Given the description of an element on the screen output the (x, y) to click on. 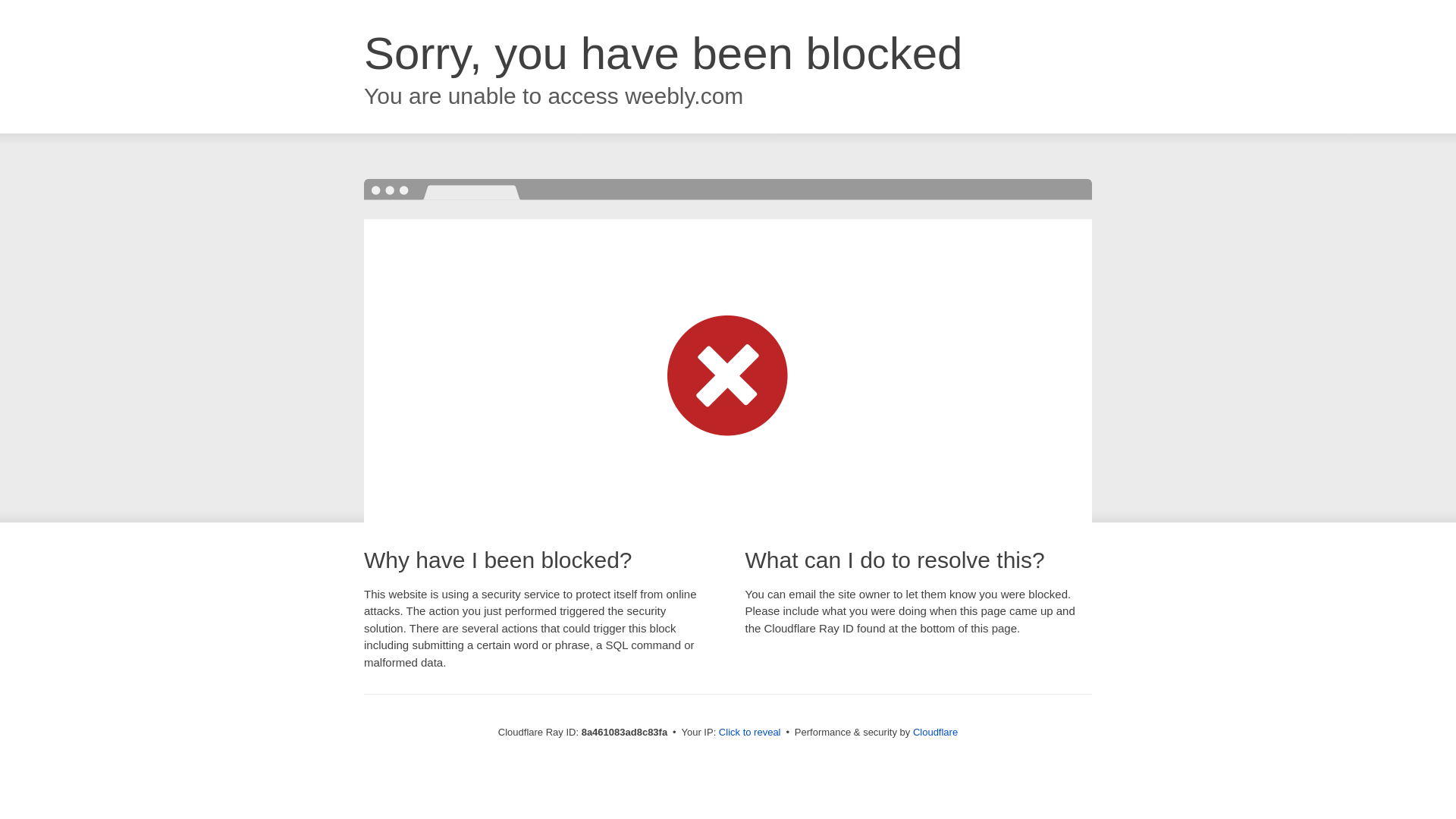
Click to reveal (749, 732)
Cloudflare (935, 731)
